Given the description of an element on the screen output the (x, y) to click on. 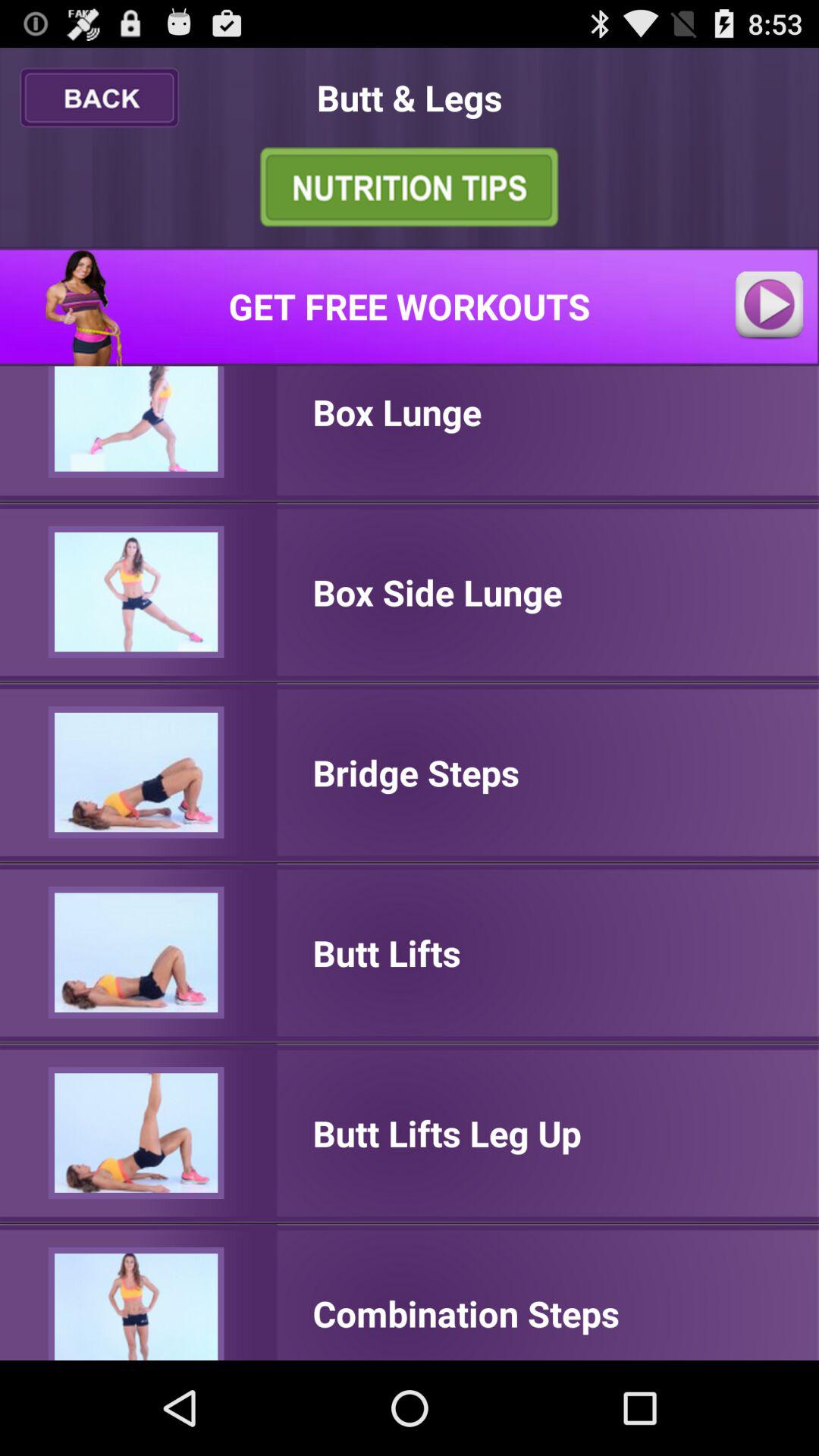
turn off the bridge steps (415, 772)
